Given the description of an element on the screen output the (x, y) to click on. 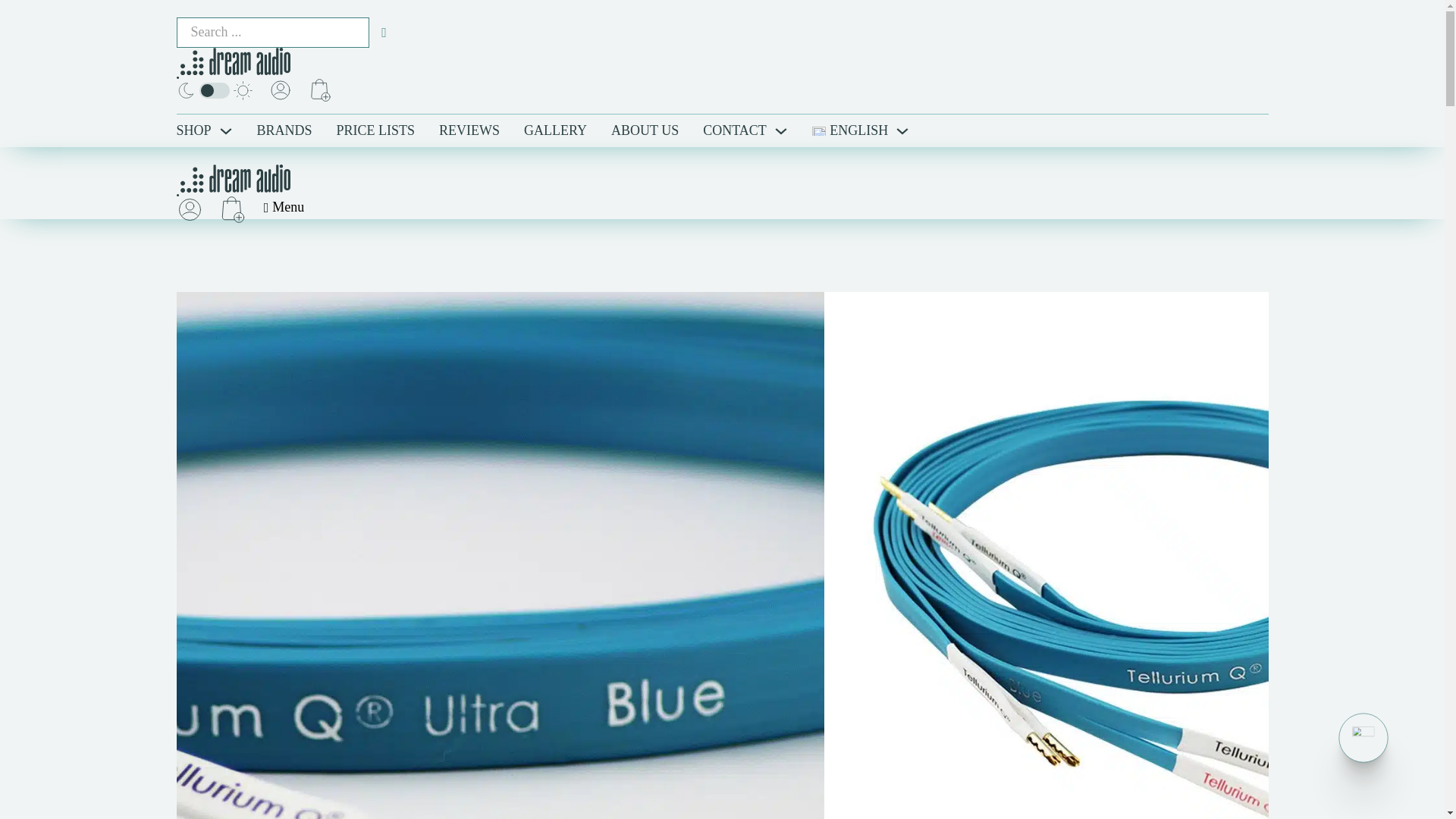
ENGLISH (850, 130)
REVIEWS (469, 130)
English (850, 130)
CONTACT (735, 130)
BRANDS (285, 130)
ABOUT US (644, 130)
GALLERY (555, 130)
PRICE LISTS (375, 130)
SHOP (193, 130)
